Given the description of an element on the screen output the (x, y) to click on. 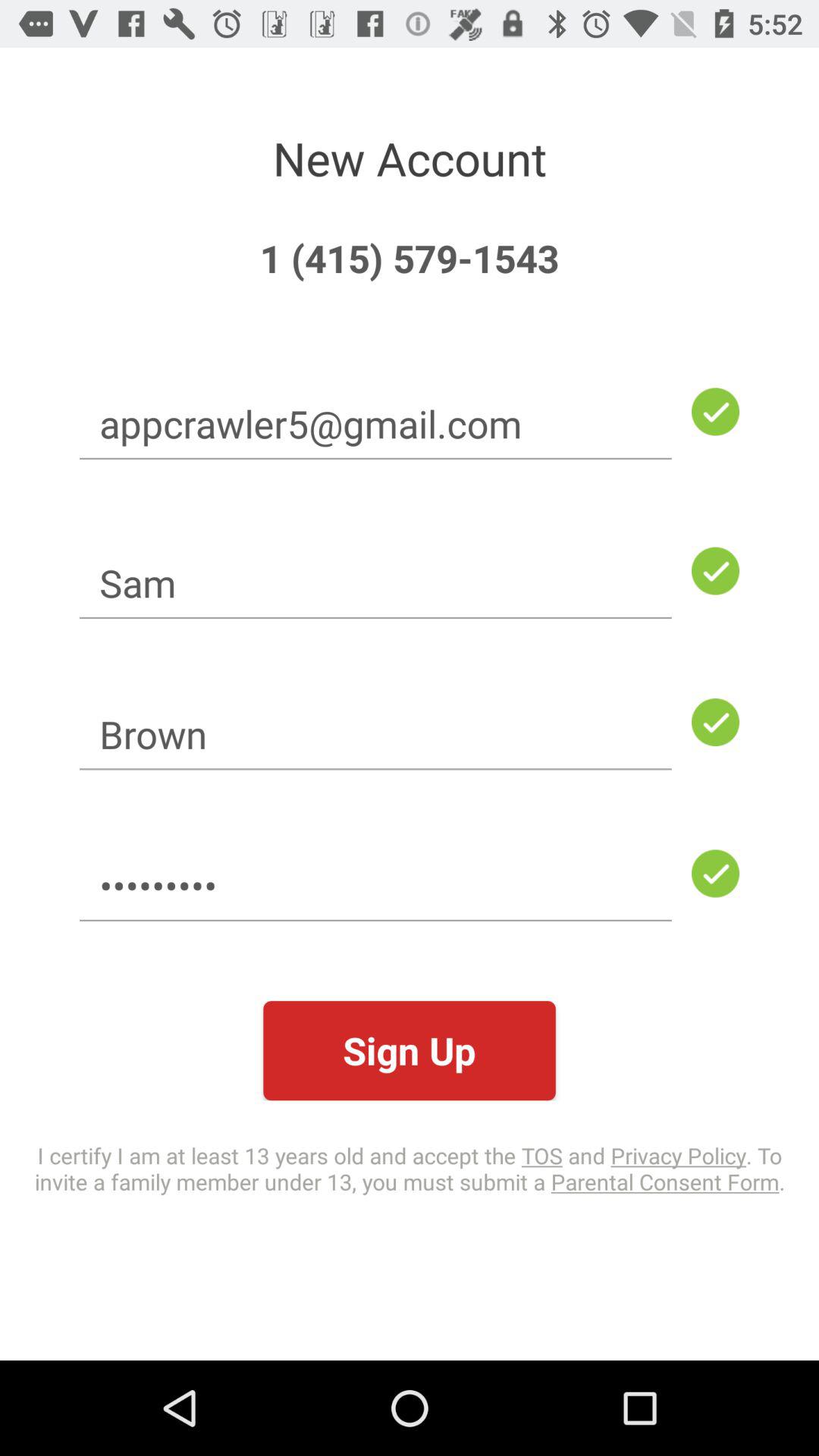
launch icon above the brown icon (375, 582)
